Given the description of an element on the screen output the (x, y) to click on. 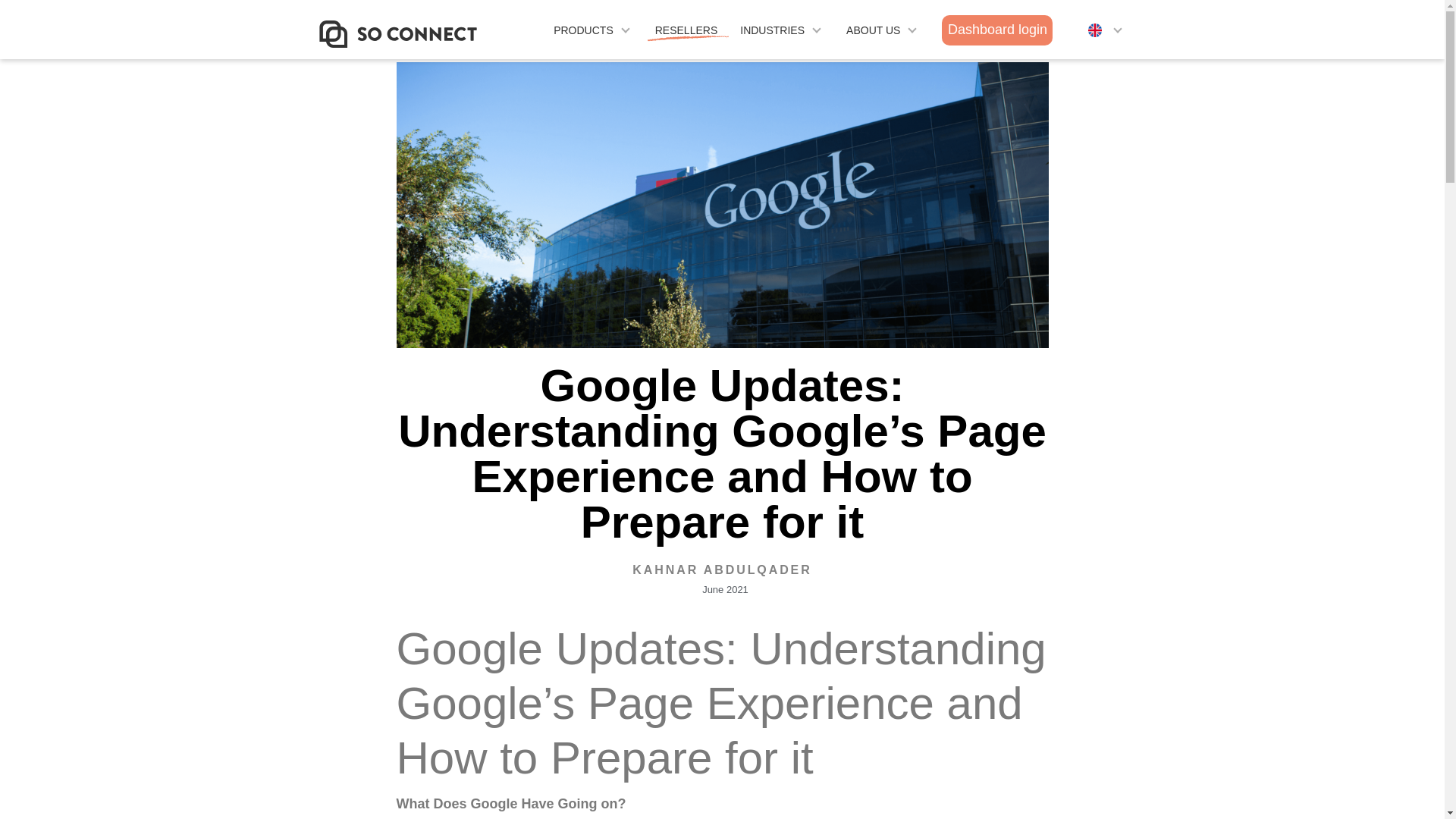
RESELLERS (686, 30)
ABOUT US (872, 30)
INDUSTRIES (772, 30)
June 2021 (721, 589)
Dashboard login (997, 30)
PRODUCTS (582, 30)
